Given the description of an element on the screen output the (x, y) to click on. 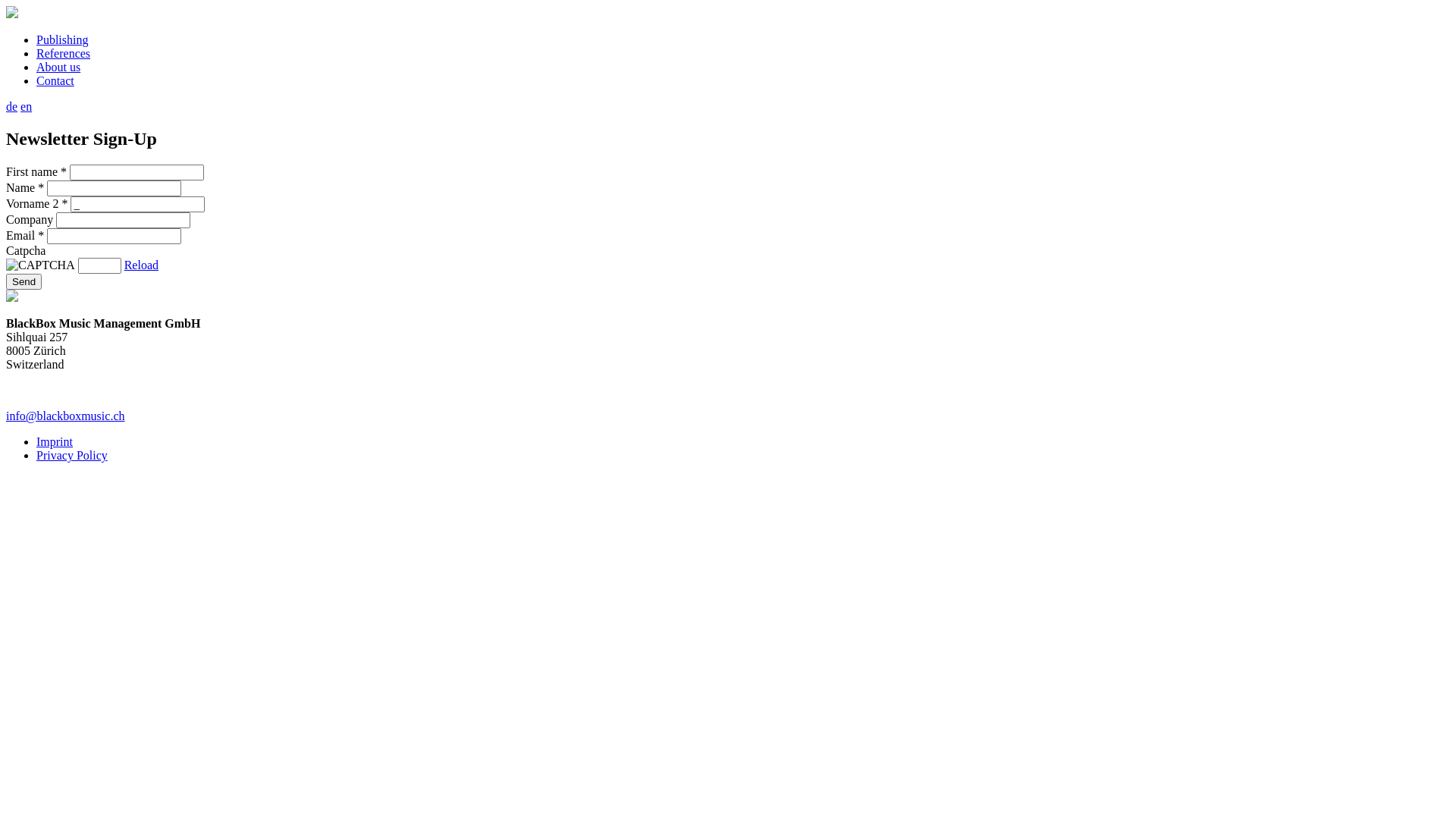
Publishing Element type: text (61, 39)
Imprint Element type: text (54, 441)
References Element type: text (63, 53)
de Element type: text (11, 106)
Privacy Policy Element type: text (71, 454)
Reload Element type: text (141, 264)
About us Element type: text (58, 66)
Send Element type: text (23, 281)
en Element type: text (25, 106)
Contact Element type: text (55, 80)
info@blackboxmusic.ch Element type: text (727, 416)
